Given the description of an element on the screen output the (x, y) to click on. 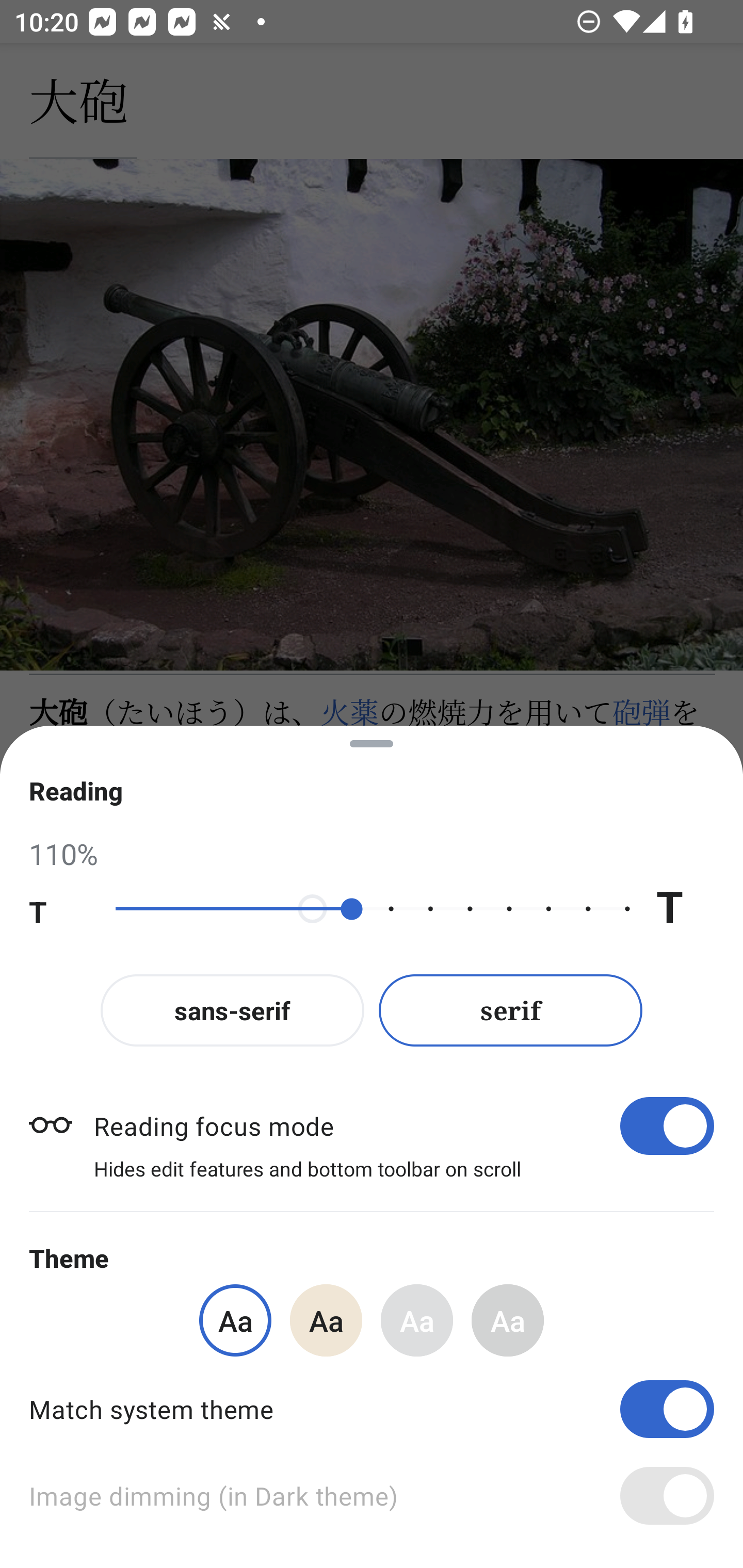
T Decrease text size (57, 909)
T Increase text size (685, 909)
sans-serif (232, 1010)
serif (510, 1010)
Reading focus mode (403, 1125)
Aa (325, 1320)
Aa (416, 1320)
Aa (507, 1320)
Match system theme (371, 1408)
Image dimming (in Dark theme) (371, 1495)
